Given the description of an element on the screen output the (x, y) to click on. 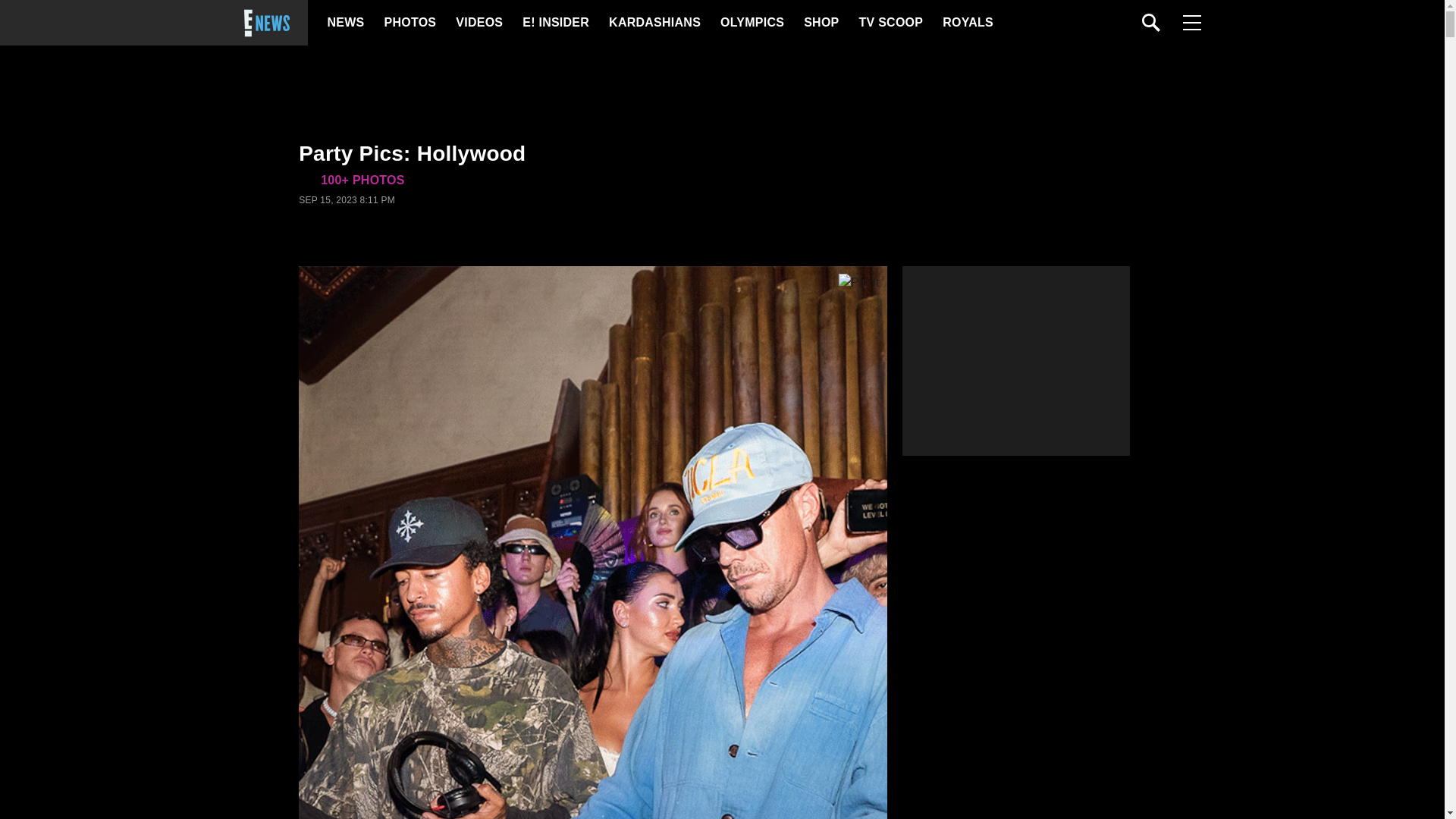
TV SCOOP (890, 22)
VIDEOS (478, 22)
SHOP (820, 22)
OLYMPICS (751, 22)
ROYALS (966, 22)
PHOTOS (408, 22)
E! INSIDER (555, 22)
NEWS (345, 22)
KARDASHIANS (653, 22)
